Given the description of an element on the screen output the (x, y) to click on. 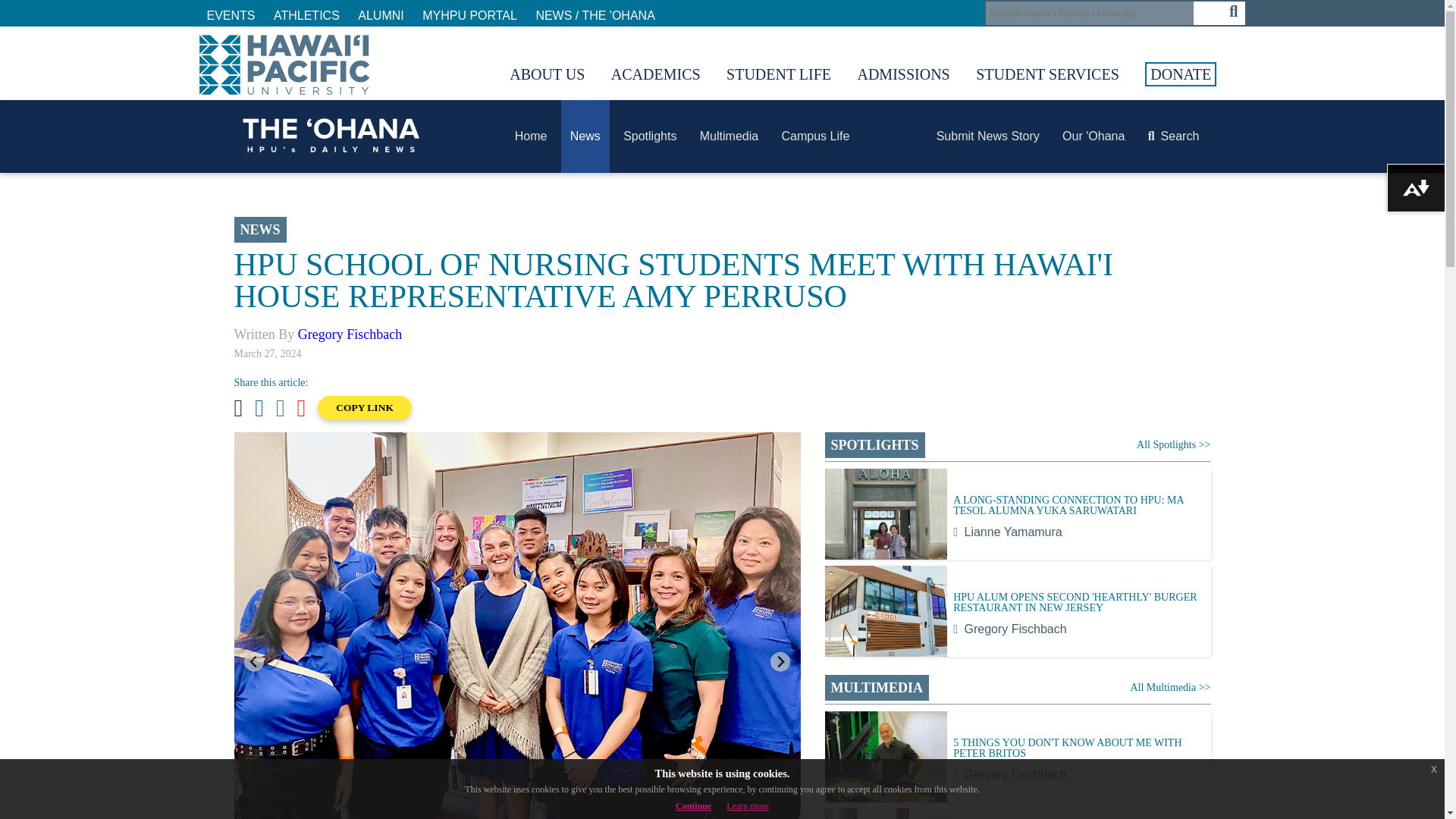
EVENTS (230, 15)
ACADEMICS (655, 74)
ADMISSIONS (903, 74)
Search (1089, 13)
STUDENT SERVICES (1047, 74)
ATHLETICS (306, 15)
ABOUT US (547, 74)
ALUMNI (380, 15)
MYHPU PORTAL (469, 15)
